Given the description of an element on the screen output the (x, y) to click on. 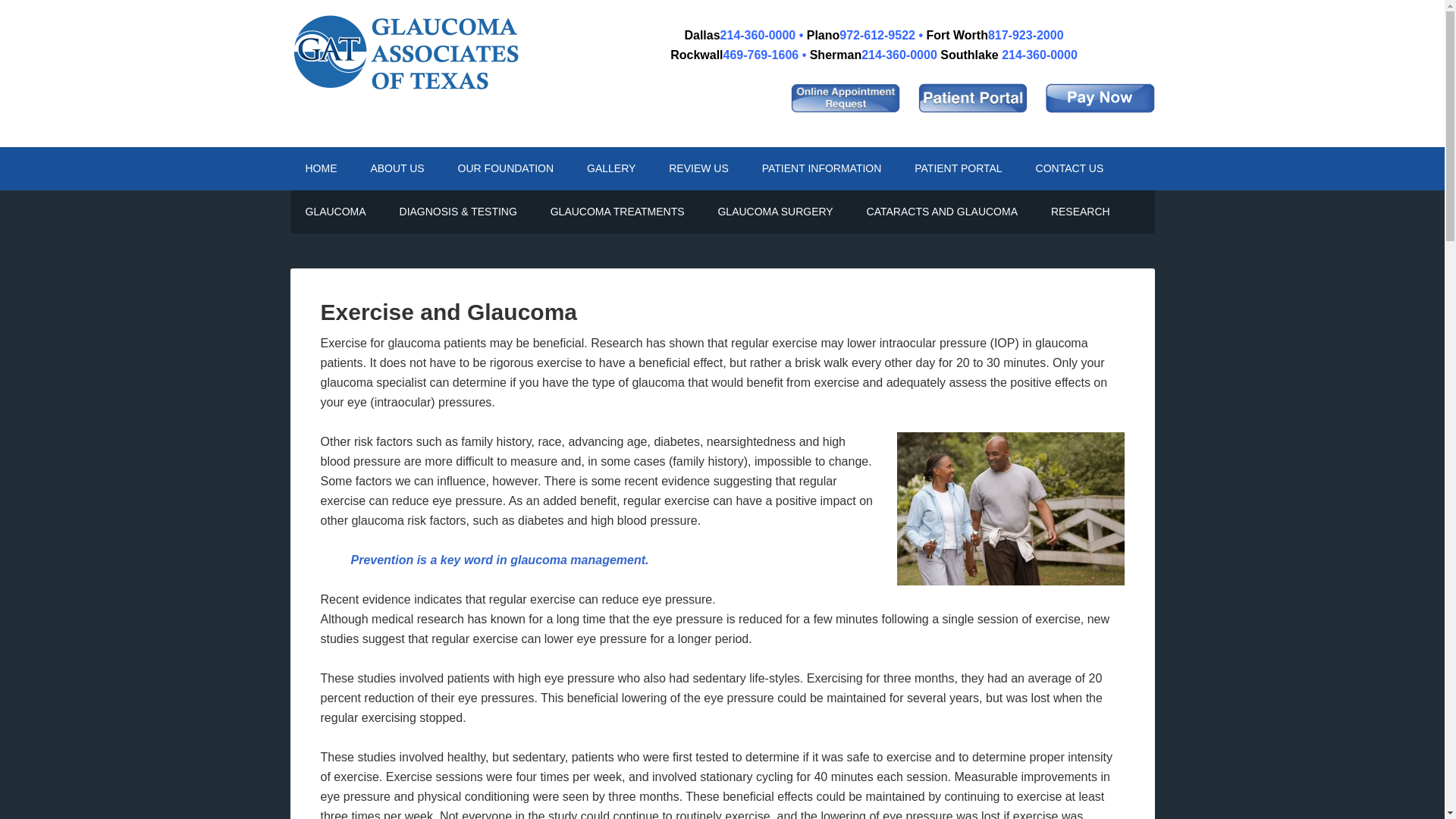
HOME (320, 168)
972-612-9522 (877, 34)
Dallas (701, 34)
Sherman (835, 54)
000 (928, 54)
REVIEW US (698, 168)
214-360-0 (889, 54)
ABOUT US (397, 168)
469-769-1606 (761, 54)
Rockwall (695, 54)
